Given the description of an element on the screen output the (x, y) to click on. 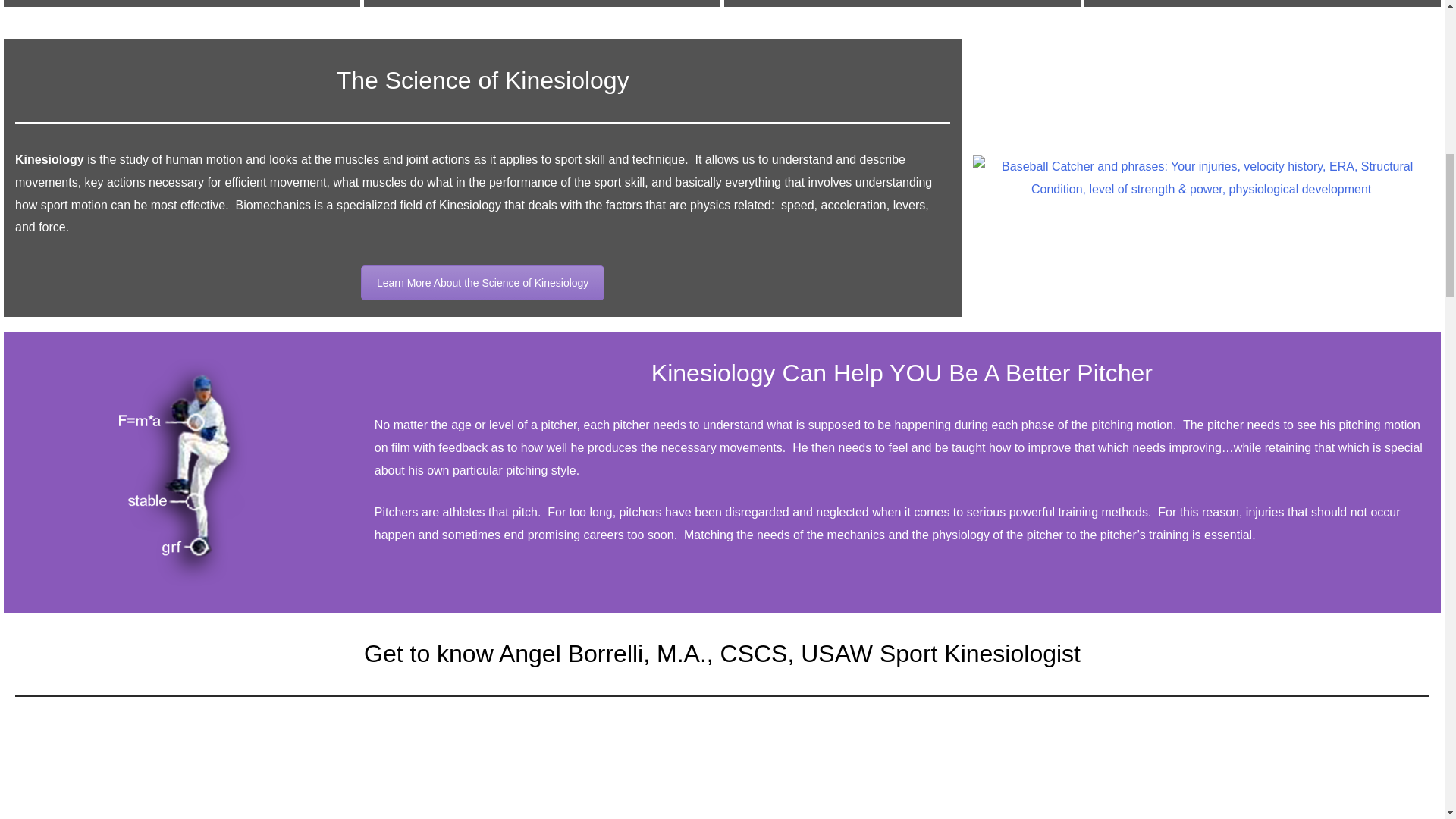
The Science (482, 282)
catcher and balls (1200, 177)
